Given the description of an element on the screen output the (x, y) to click on. 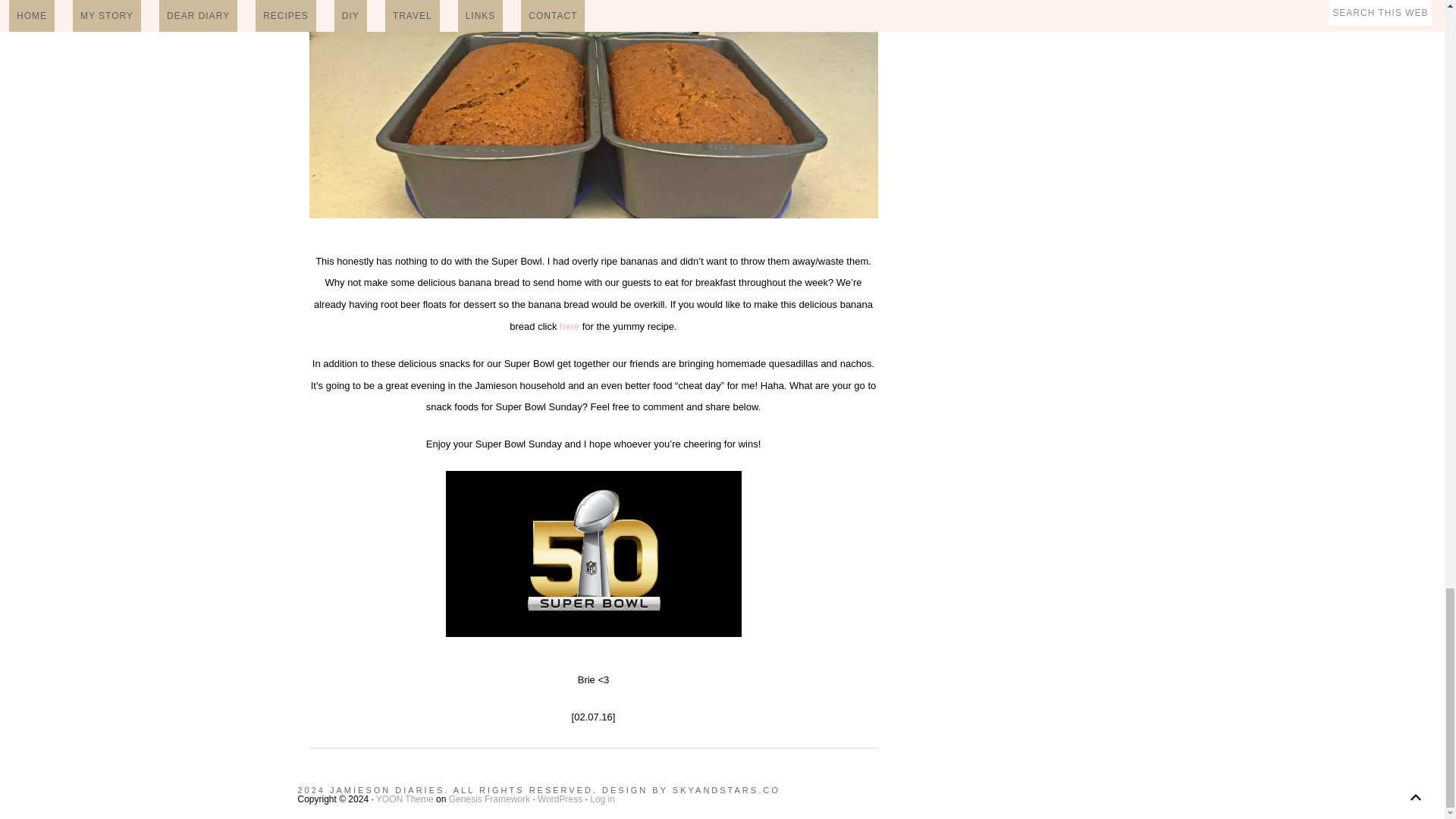
here (569, 326)
